Given the description of an element on the screen output the (x, y) to click on. 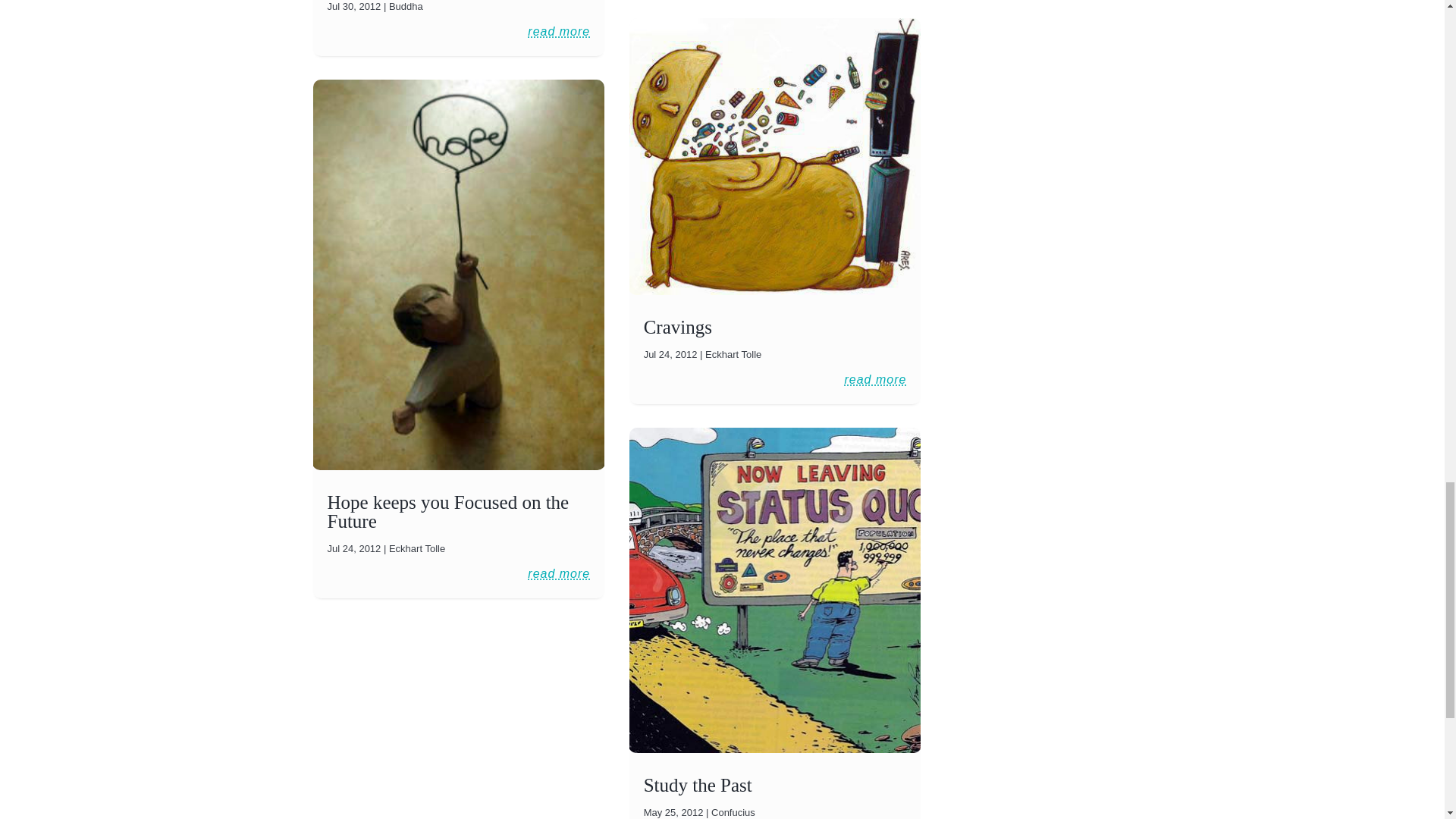
read more (558, 31)
Buddha (405, 5)
